Given the description of an element on the screen output the (x, y) to click on. 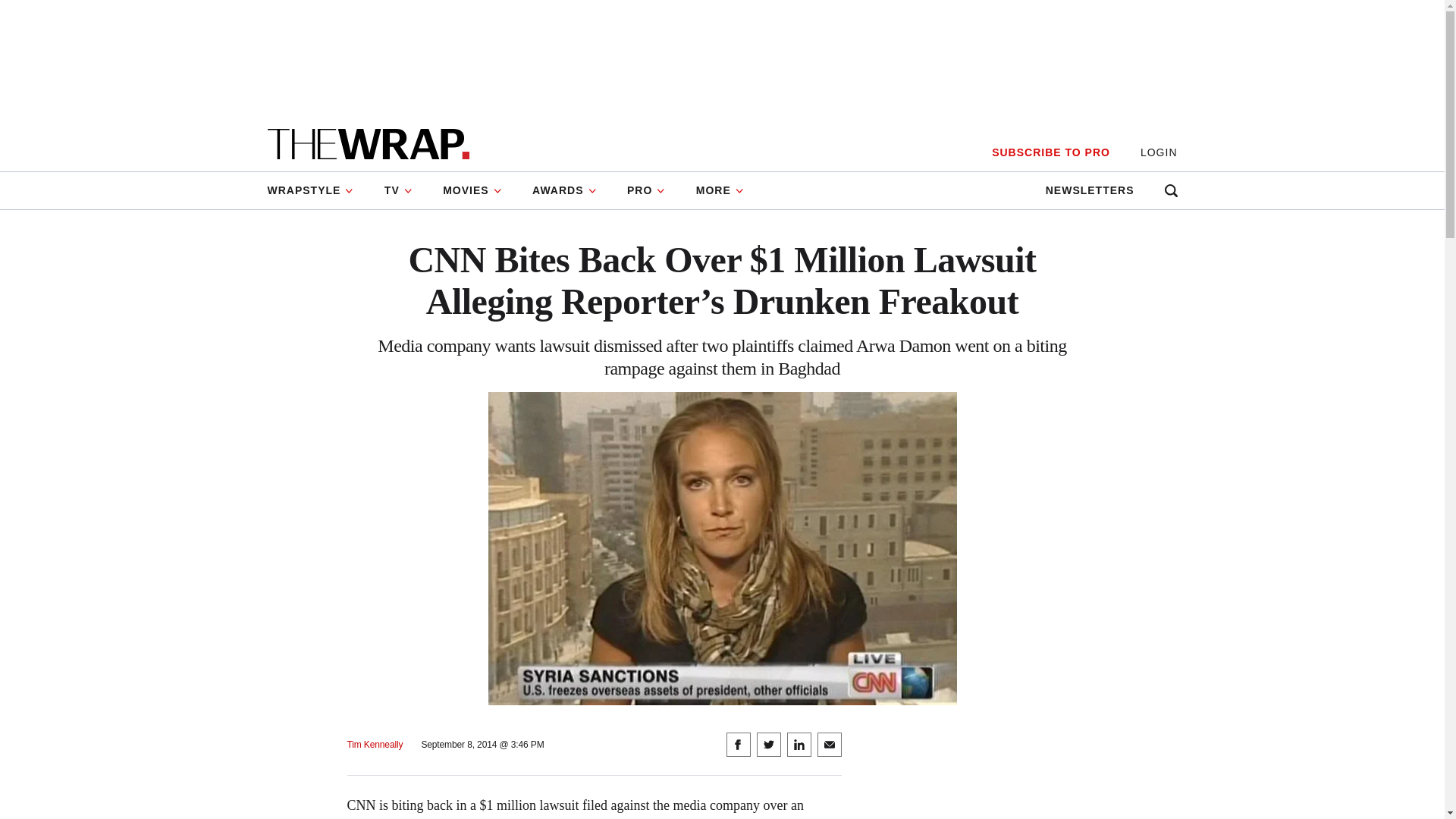
MORE (719, 190)
TV (398, 190)
MOVIES (472, 190)
SUBSCRIBE TO PRO (1050, 152)
WRAPSTYLE (317, 190)
LOGIN (1158, 152)
AWARDS (563, 190)
PRO (646, 190)
Posts by Tim Kenneally (375, 745)
